Given the description of an element on the screen output the (x, y) to click on. 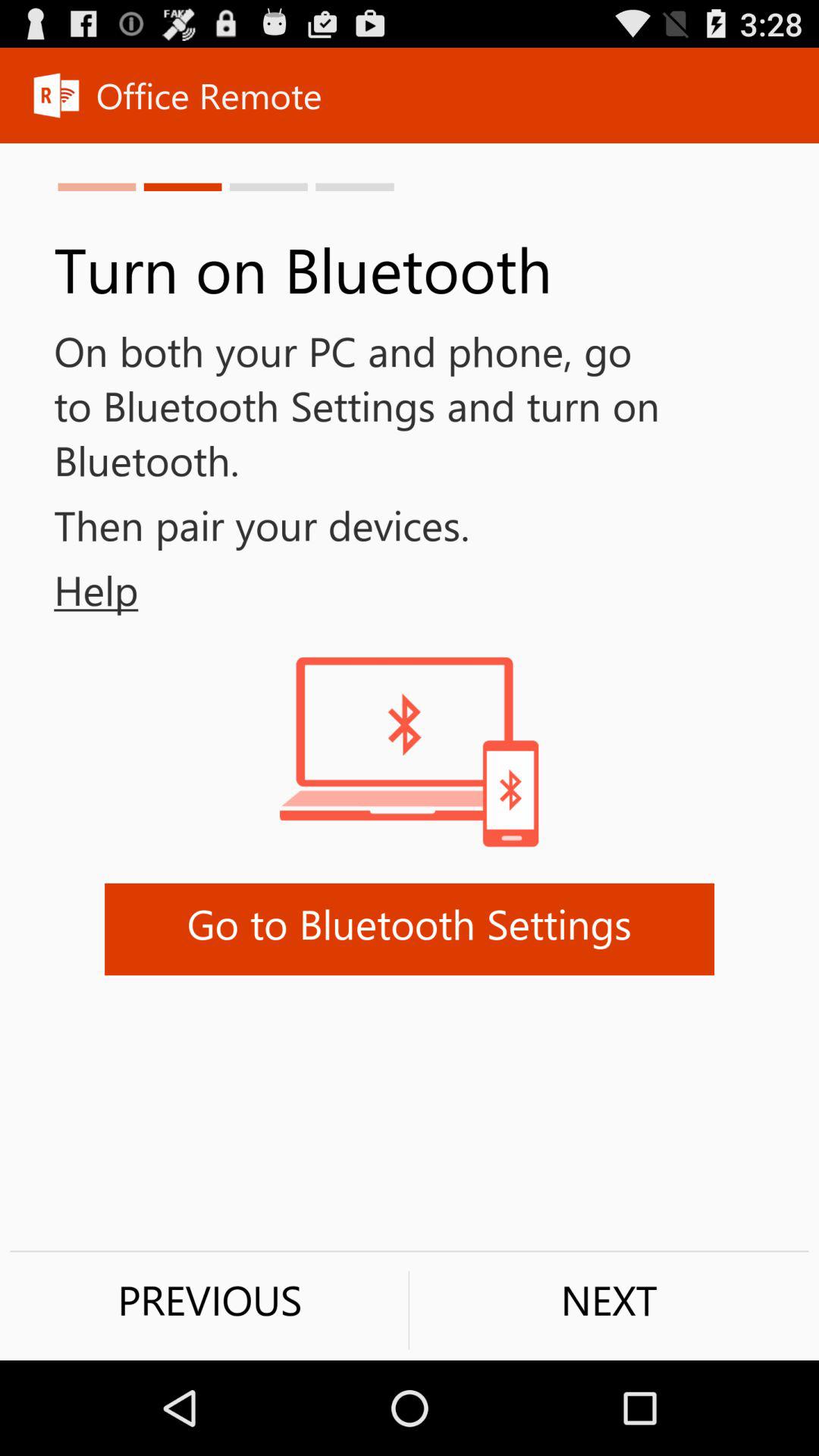
select the icon at the bottom right corner (608, 1300)
